Given the description of an element on the screen output the (x, y) to click on. 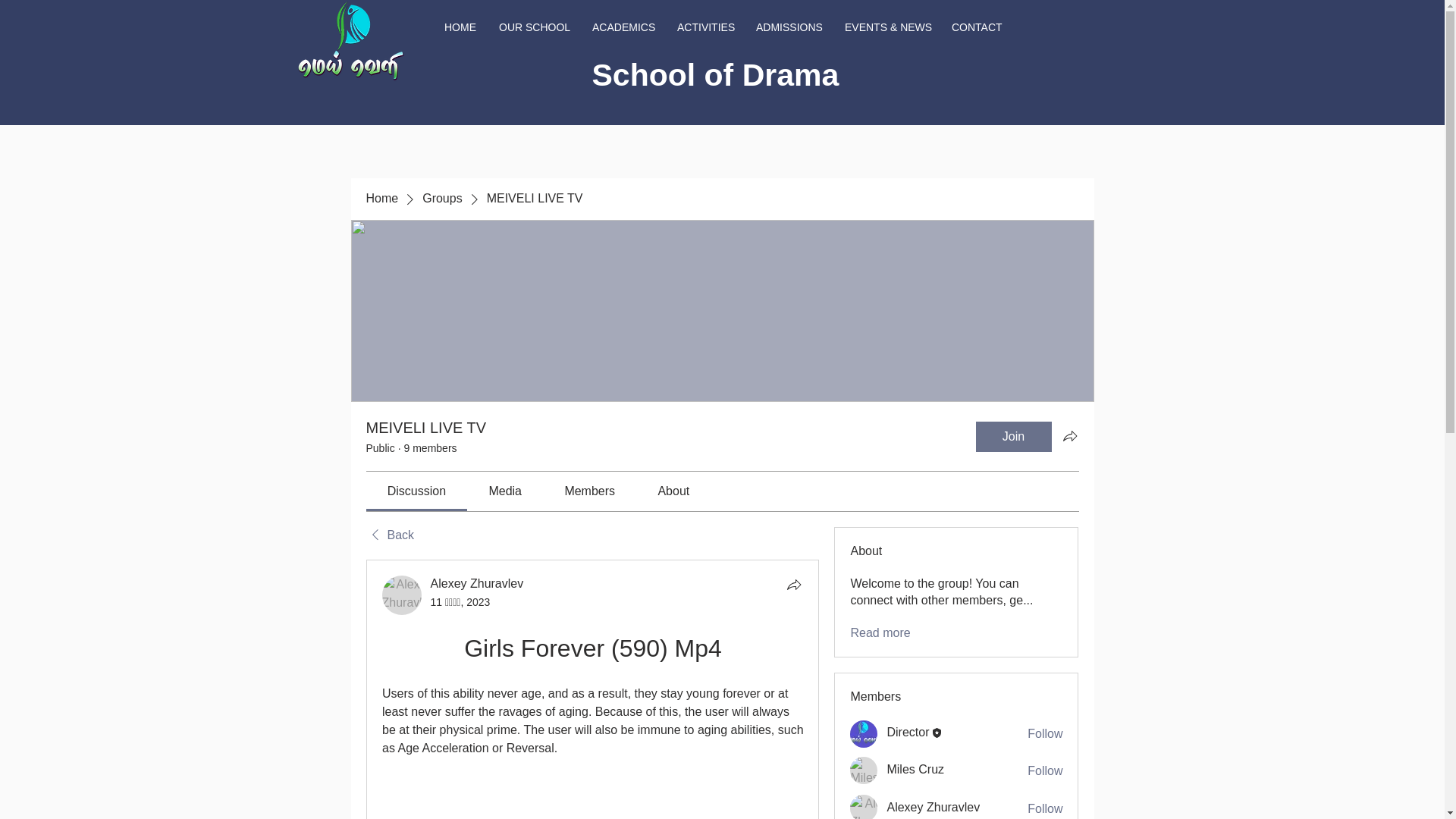
ADMISSIONS (788, 26)
Groups (441, 198)
Back (389, 535)
Follow (1044, 733)
CONTACT (975, 26)
Follow (1044, 770)
HOME (459, 26)
ACTIVITIES (704, 26)
Home (381, 198)
Director (907, 731)
Alexey Zhuravlev (863, 806)
Alexey Zhuravlev (401, 595)
Read more (880, 632)
Follow (1044, 808)
Miles Cruz (863, 769)
